Given the description of an element on the screen output the (x, y) to click on. 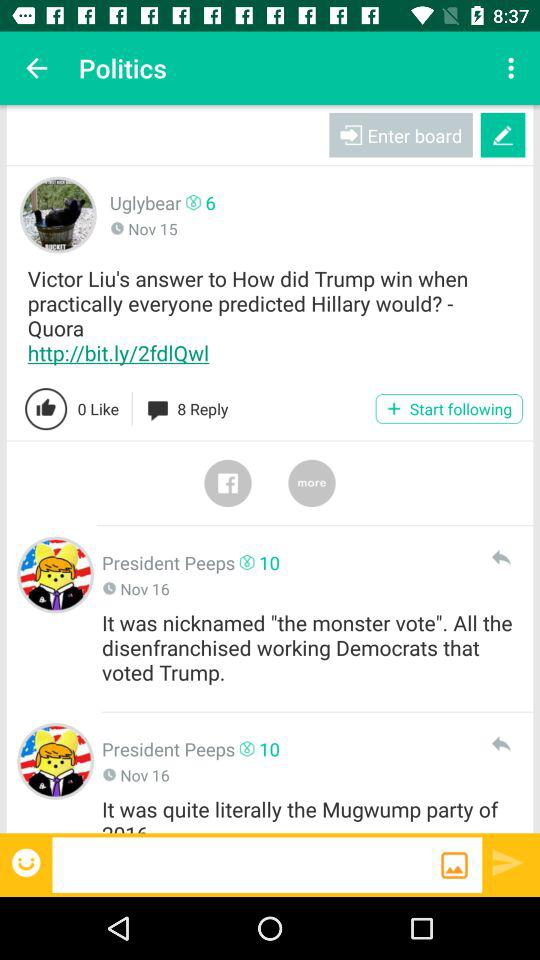
profile icon (55, 761)
